Given the description of an element on the screen output the (x, y) to click on. 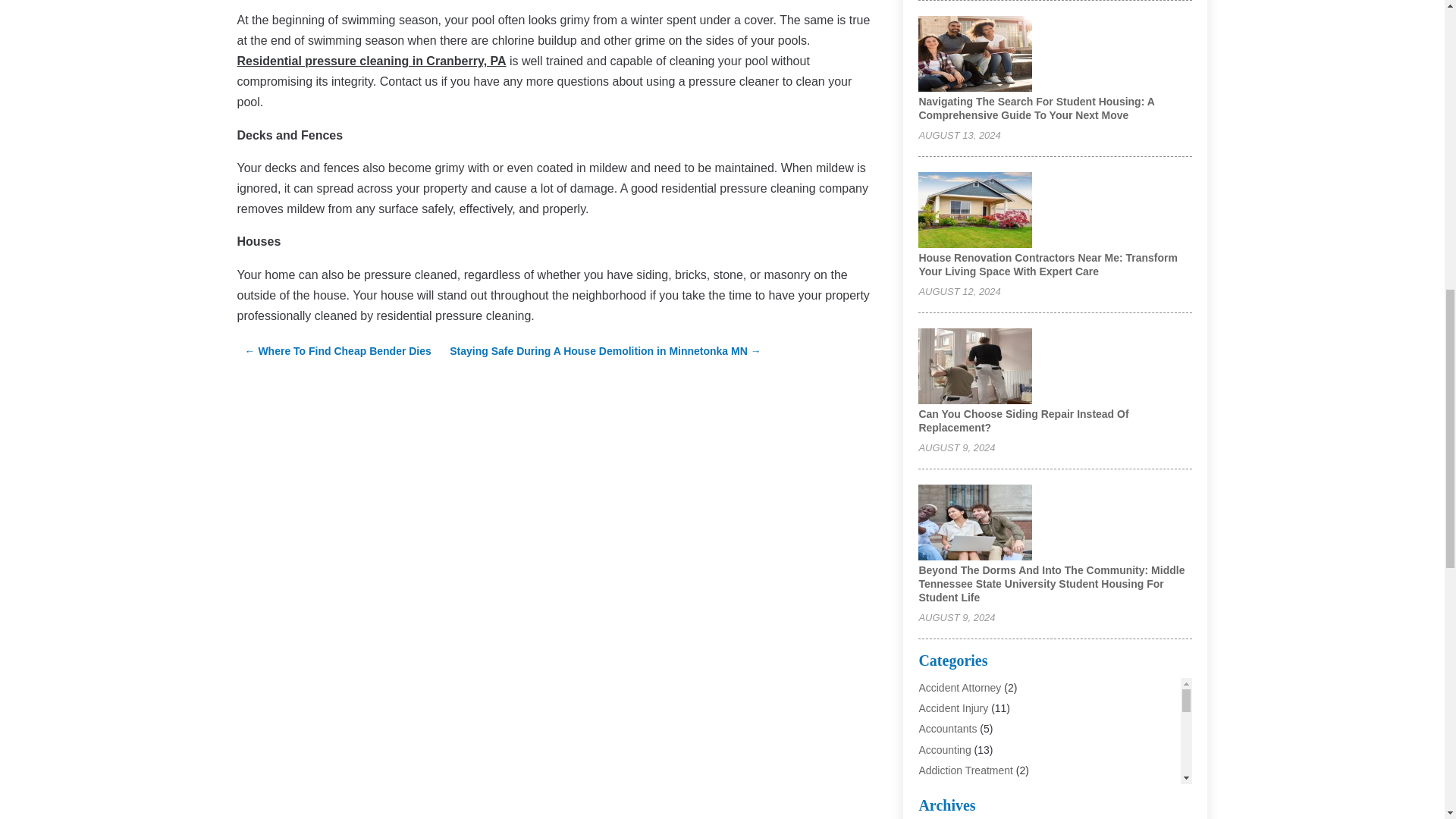
Addiction Treatment Support (985, 811)
Accounting (944, 749)
Addiction Treatment Center (982, 790)
Accountants (947, 728)
Accident Injury (953, 707)
Accident Attorney (959, 687)
Can You Choose Siding Repair Instead Of Replacement? (1023, 420)
Addiction Treatment (965, 770)
